Given the description of an element on the screen output the (x, y) to click on. 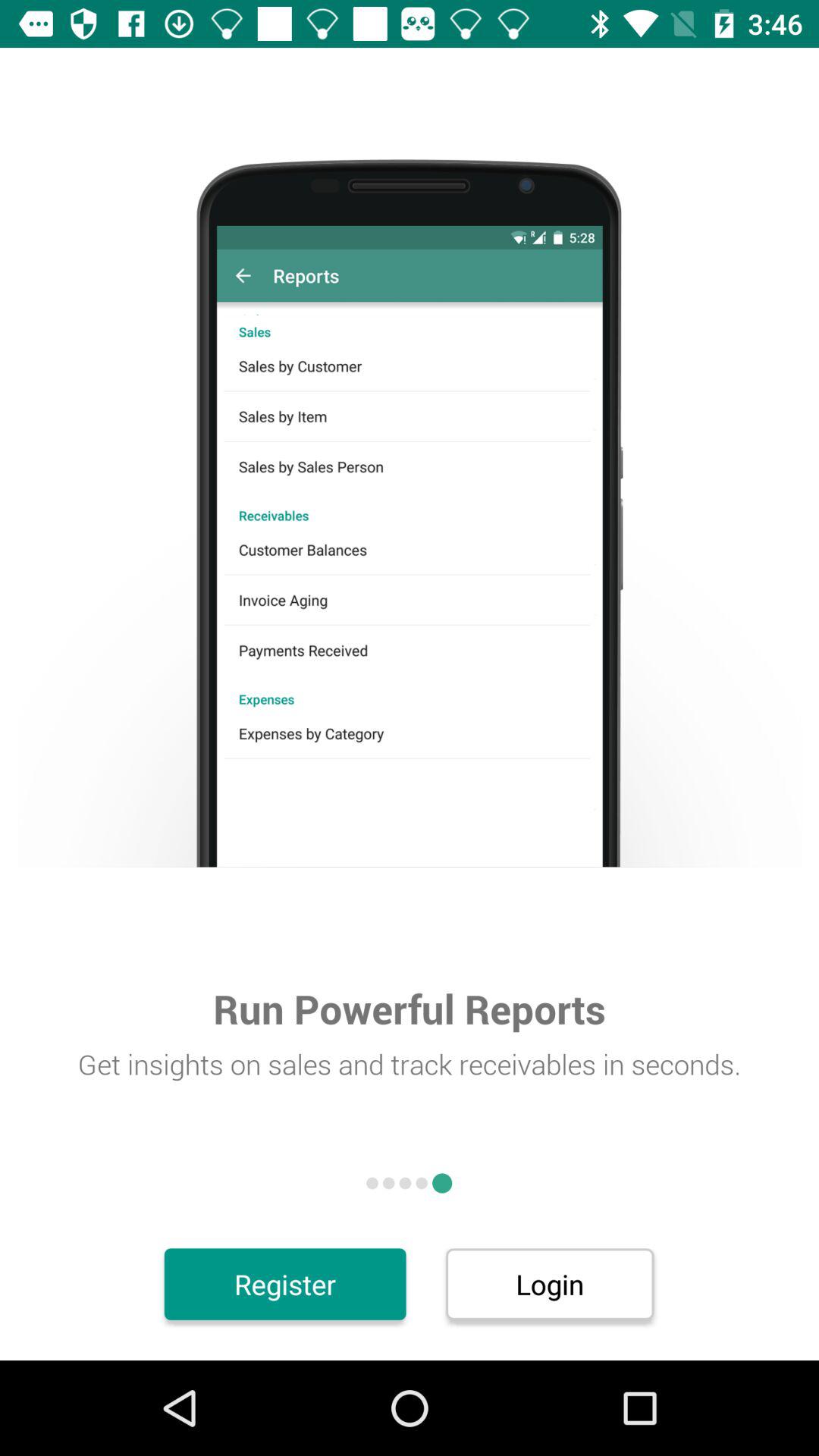
press the login item (549, 1284)
